Given the description of an element on the screen output the (x, y) to click on. 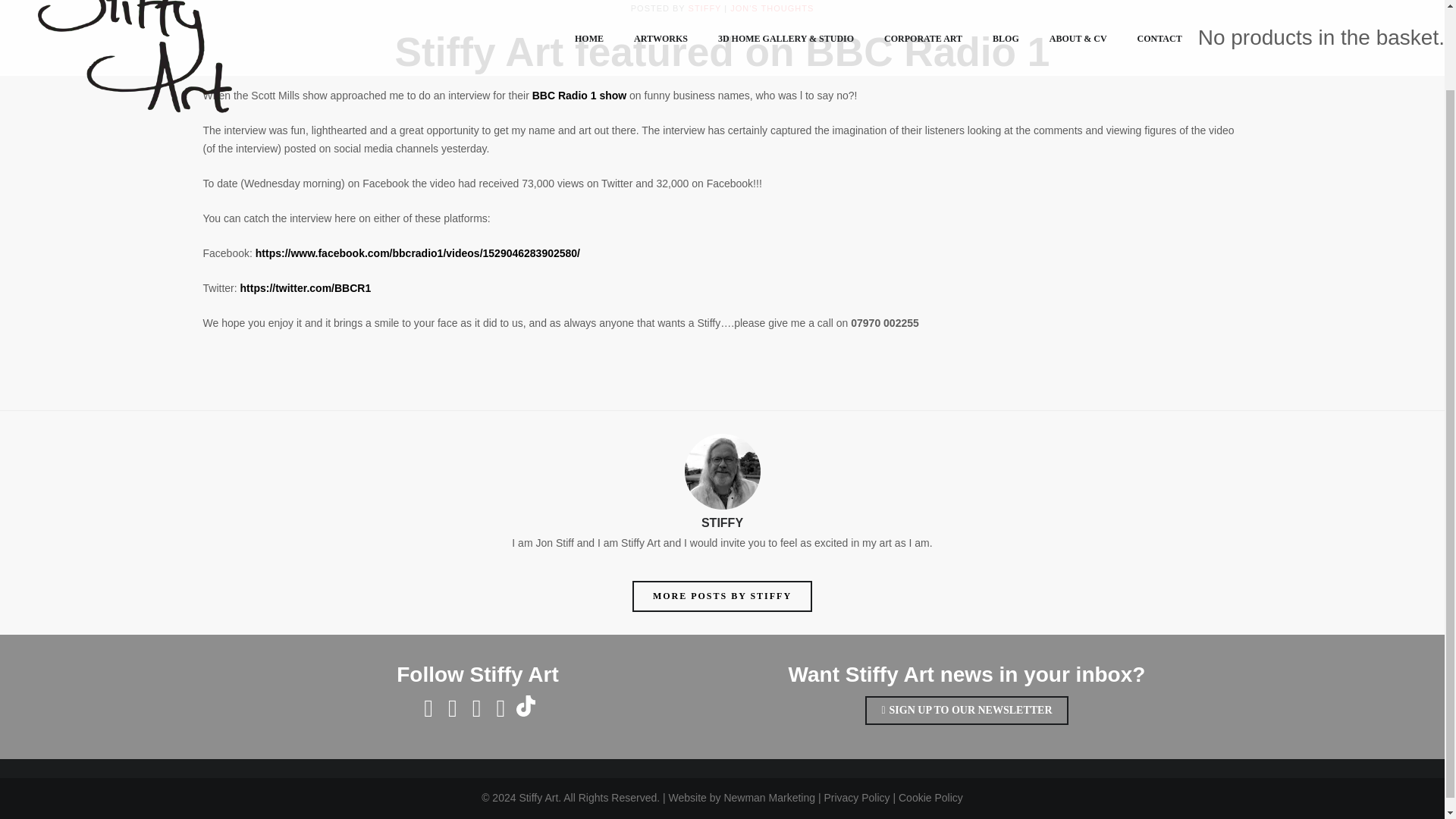
tiktok-white-icon (525, 705)
Posts by Stiffy (705, 8)
Stiffy Art (134, 10)
